Given the description of an element on the screen output the (x, y) to click on. 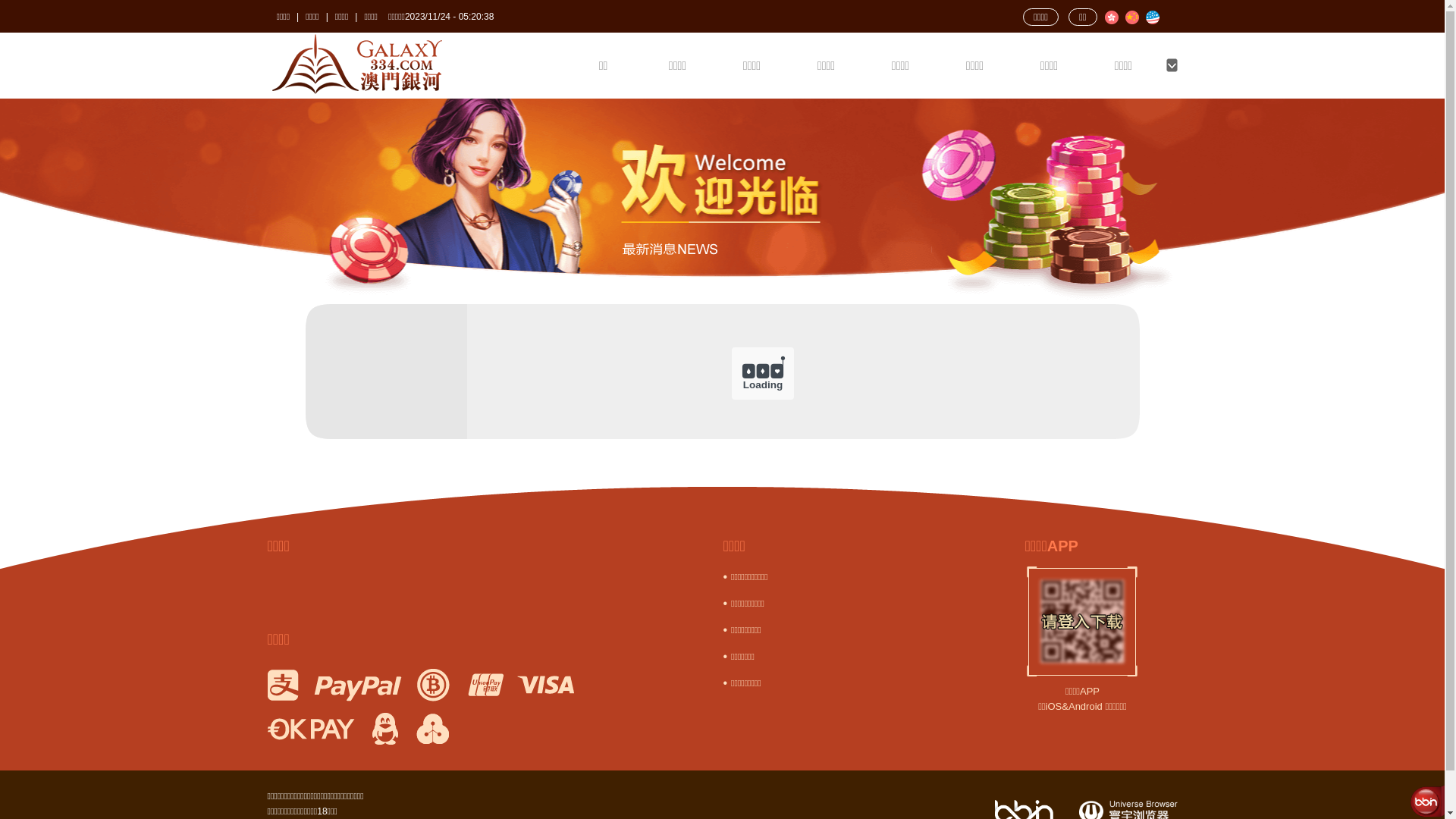
English Element type: hover (1151, 17)
